Given the description of an element on the screen output the (x, y) to click on. 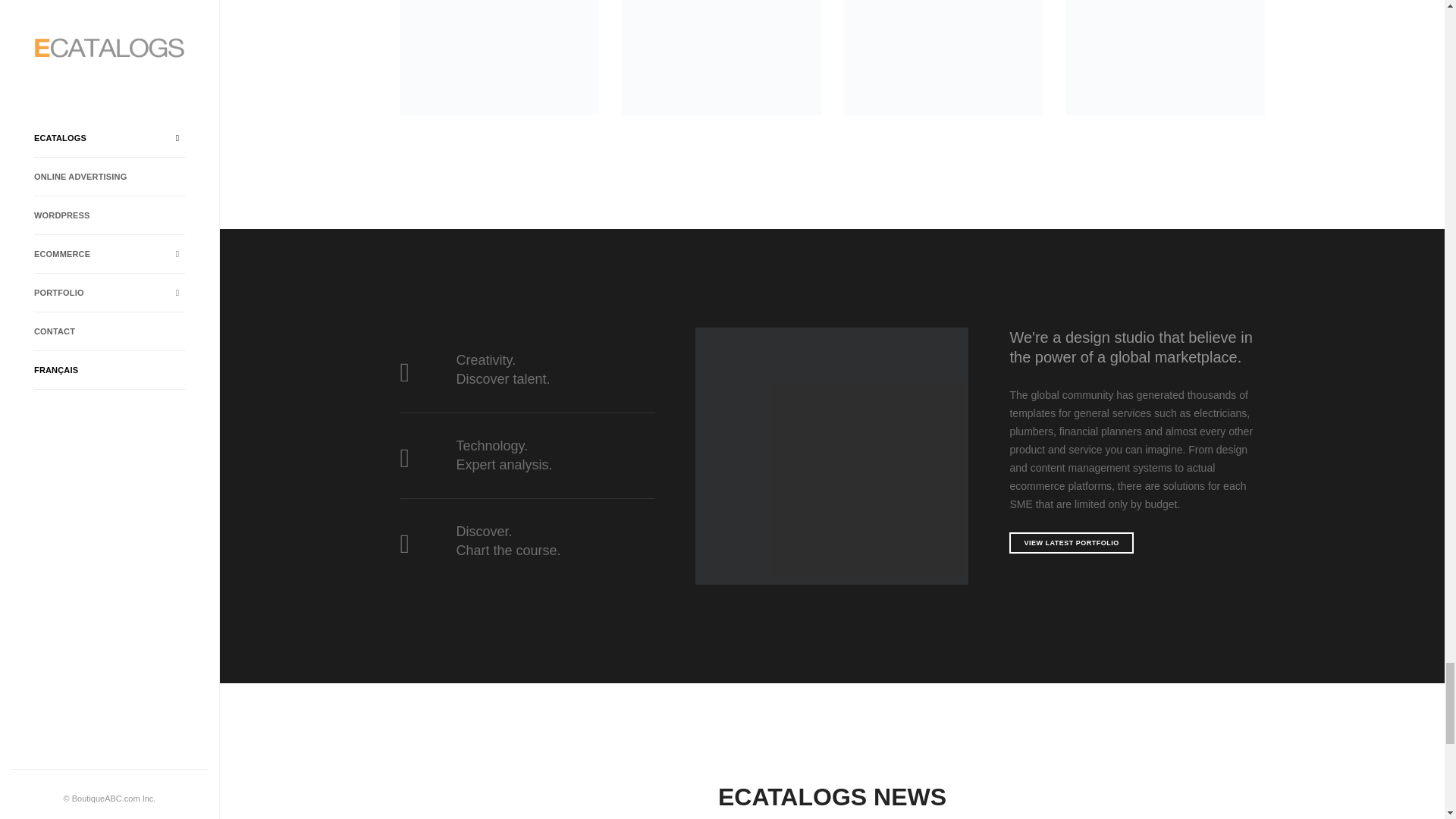
ecatalogs-ecommerce-min (831, 455)
